Given the description of an element on the screen output the (x, y) to click on. 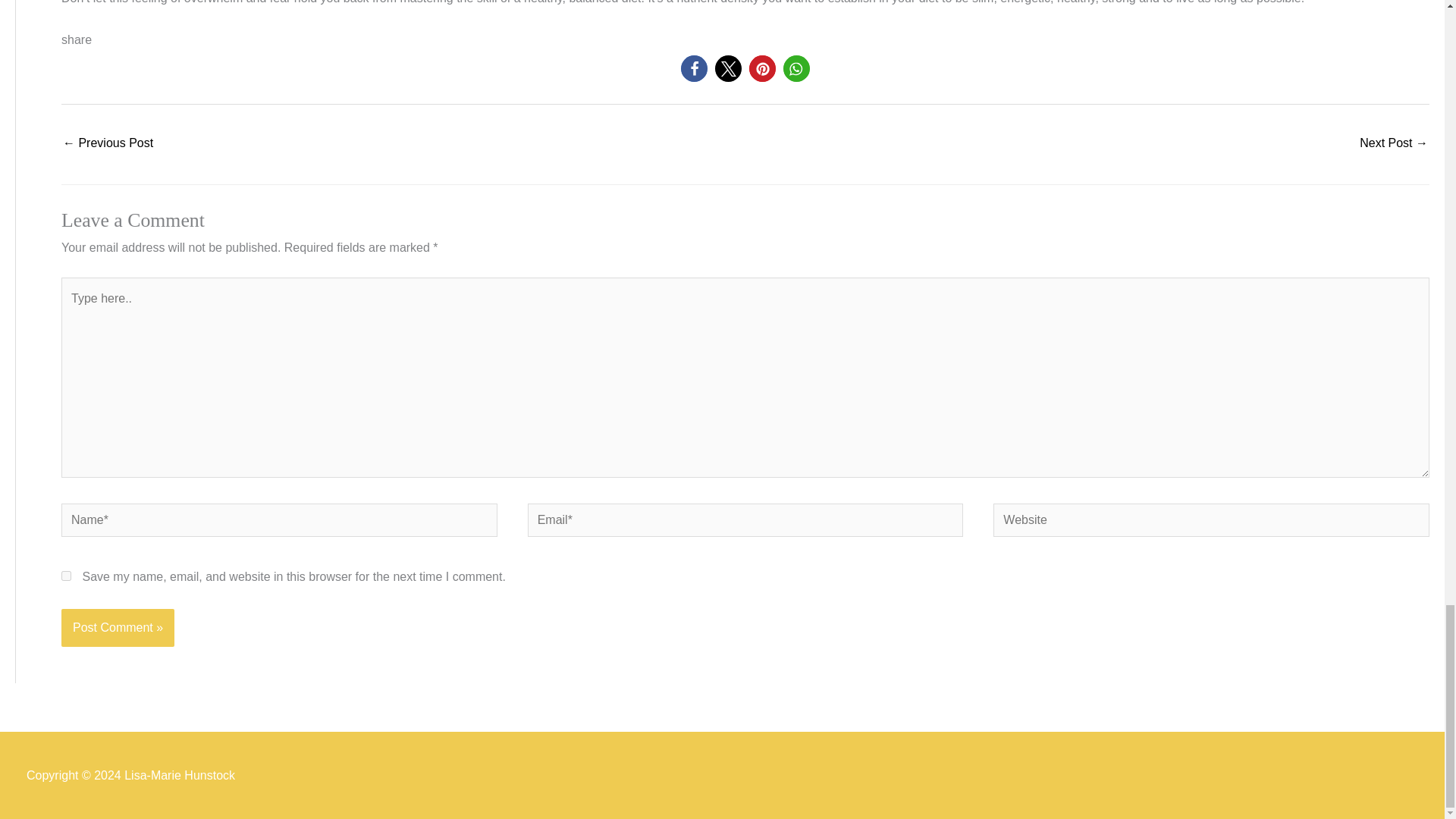
Share on Whatsapp (796, 68)
Share on X (727, 68)
Pin it on Pinterest (762, 68)
Healthy Boundaries (107, 144)
Get to know me (1393, 144)
Share on Facebook (694, 68)
yes (66, 575)
